Given the description of an element on the screen output the (x, y) to click on. 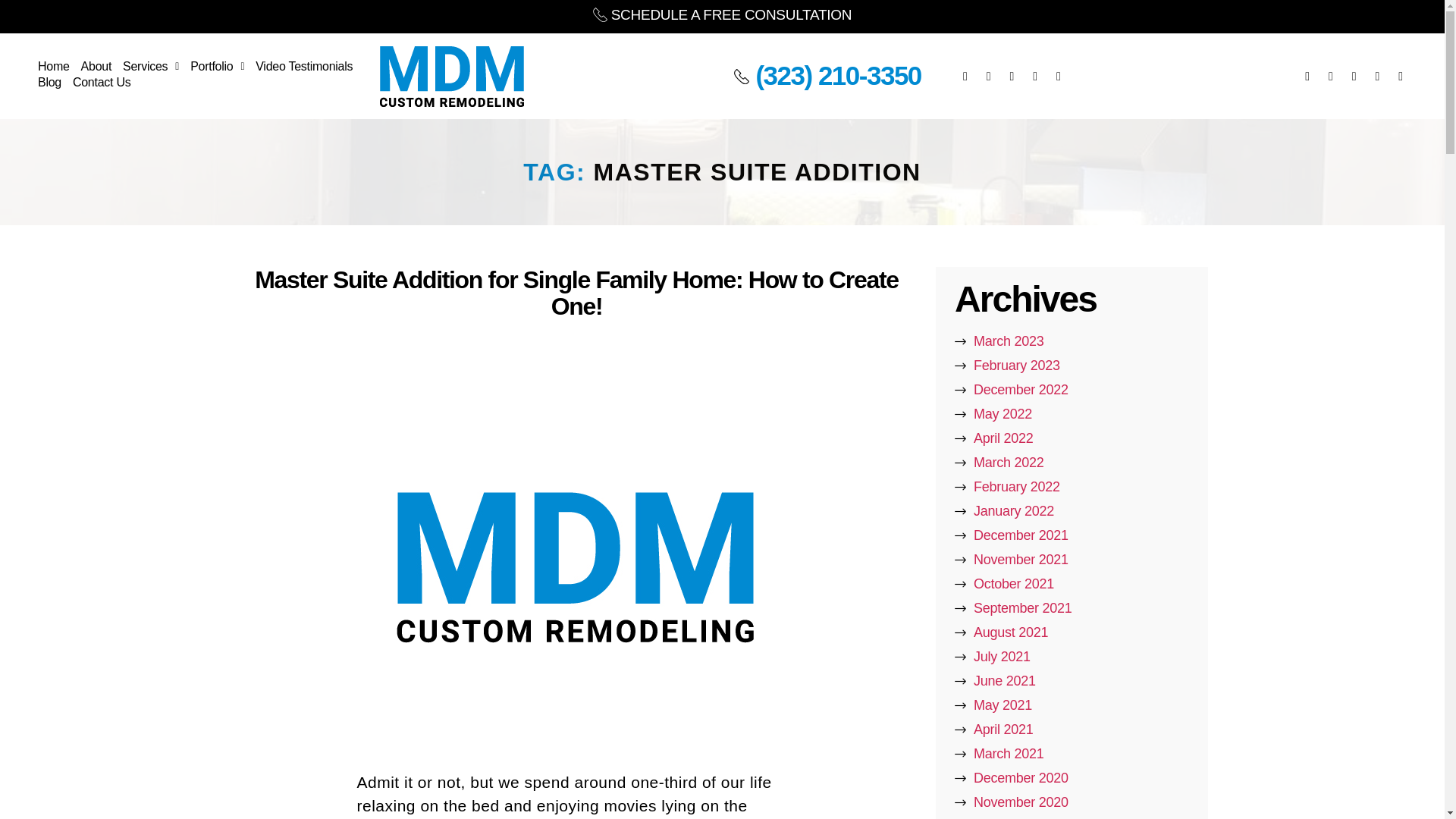
Home (53, 68)
About (96, 68)
SCHEDULE A FREE CONSULTATION (721, 14)
Services (150, 68)
Portfolio (217, 68)
